Given the description of an element on the screen output the (x, y) to click on. 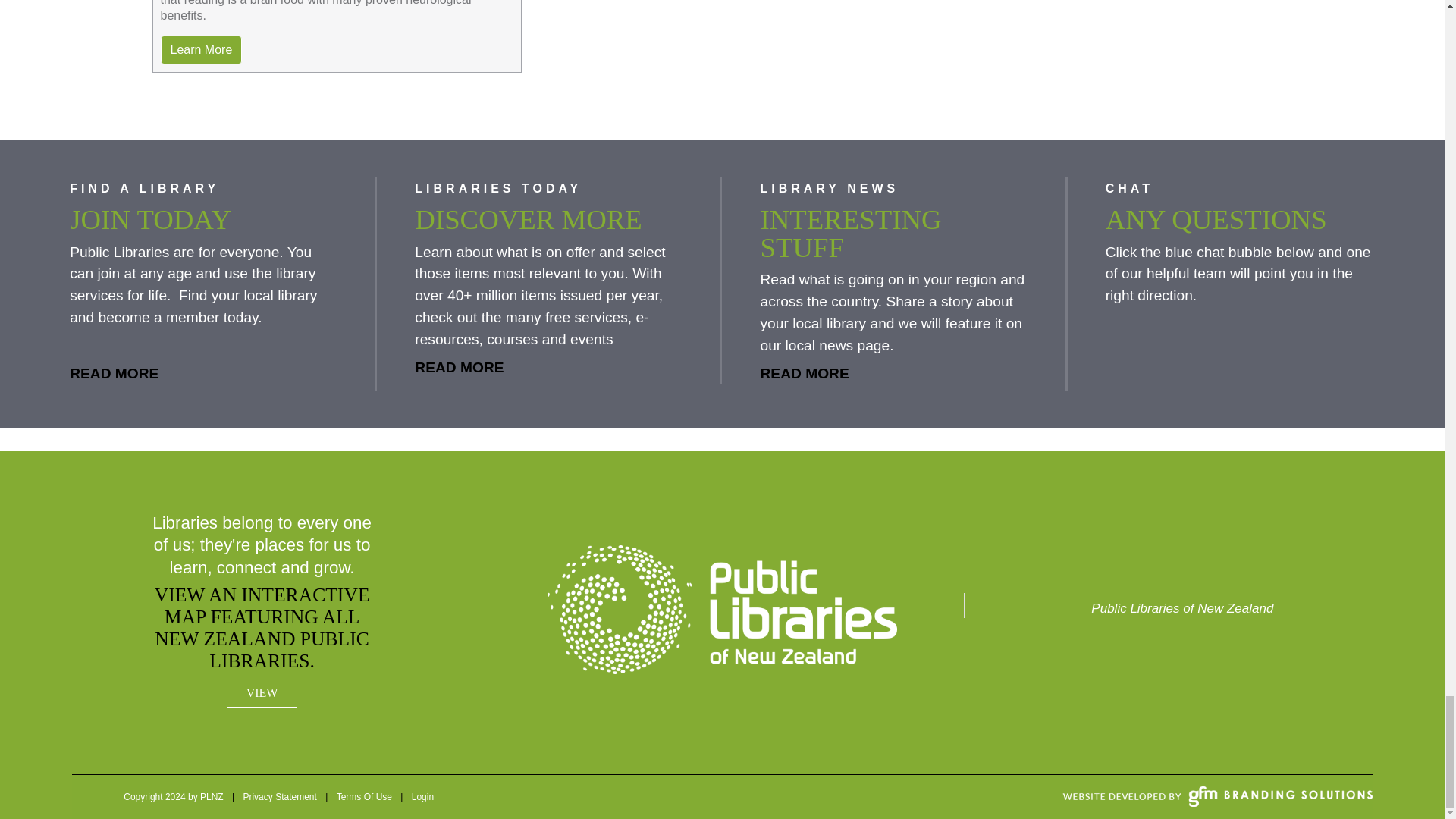
Login (422, 796)
GFM Branding Solutions (1217, 796)
